Given the description of an element on the screen output the (x, y) to click on. 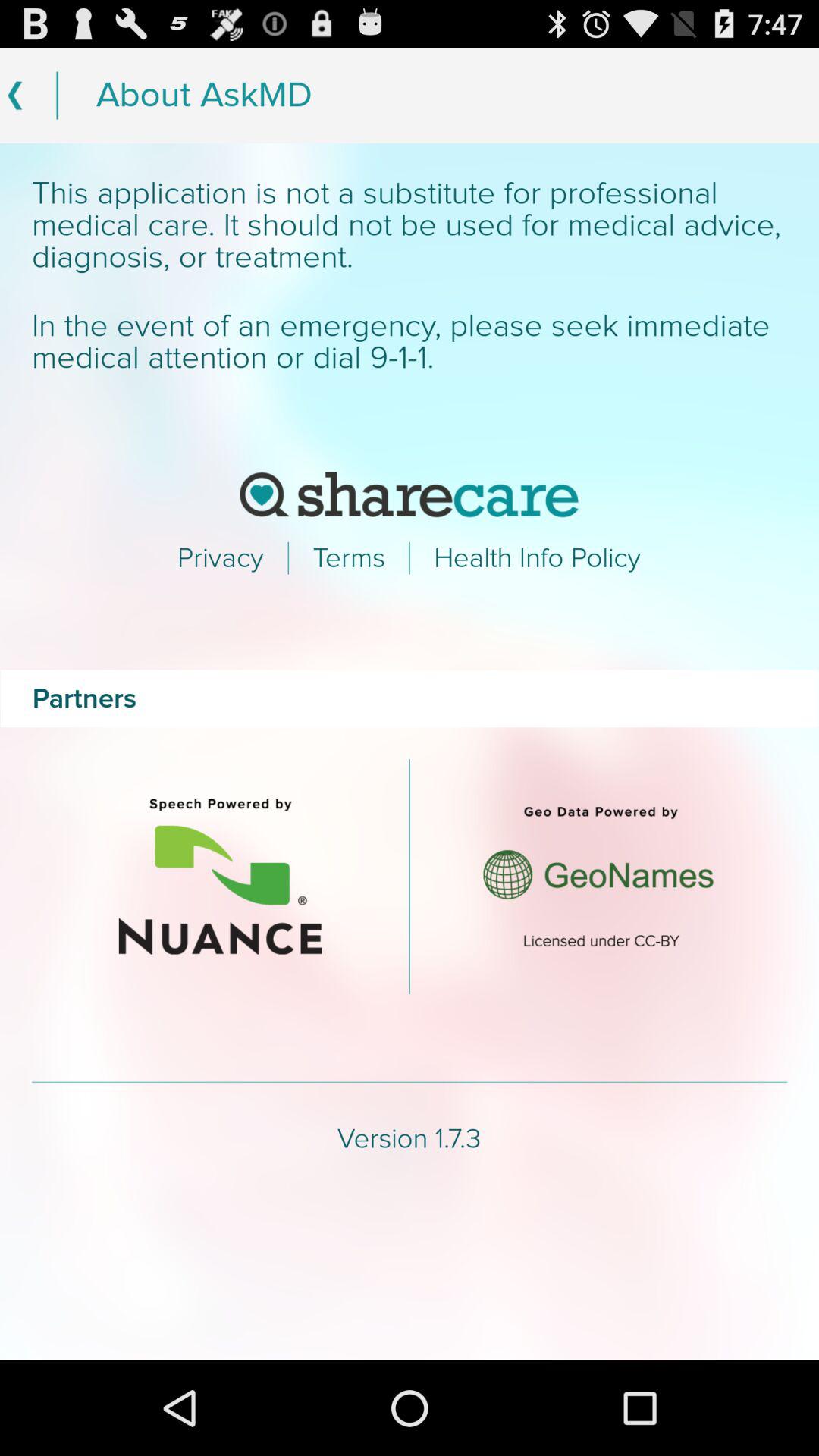
click on text which is right to privacy (348, 558)
click on logo above terms at middle of page (409, 494)
select the image which is just below the partners (220, 877)
